Given the description of an element on the screen output the (x, y) to click on. 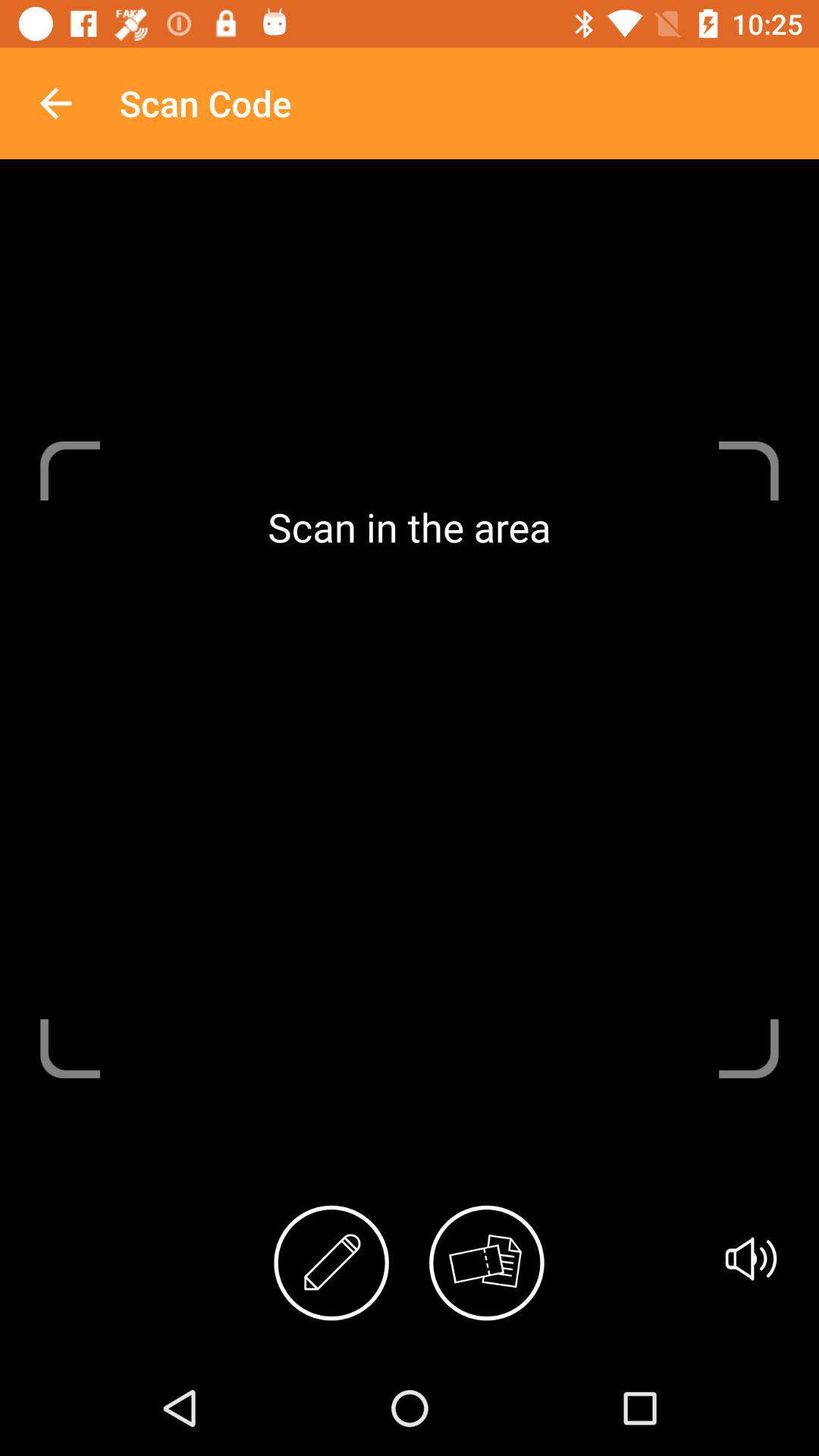
launch the icon next to scan code (55, 103)
